Given the description of an element on the screen output the (x, y) to click on. 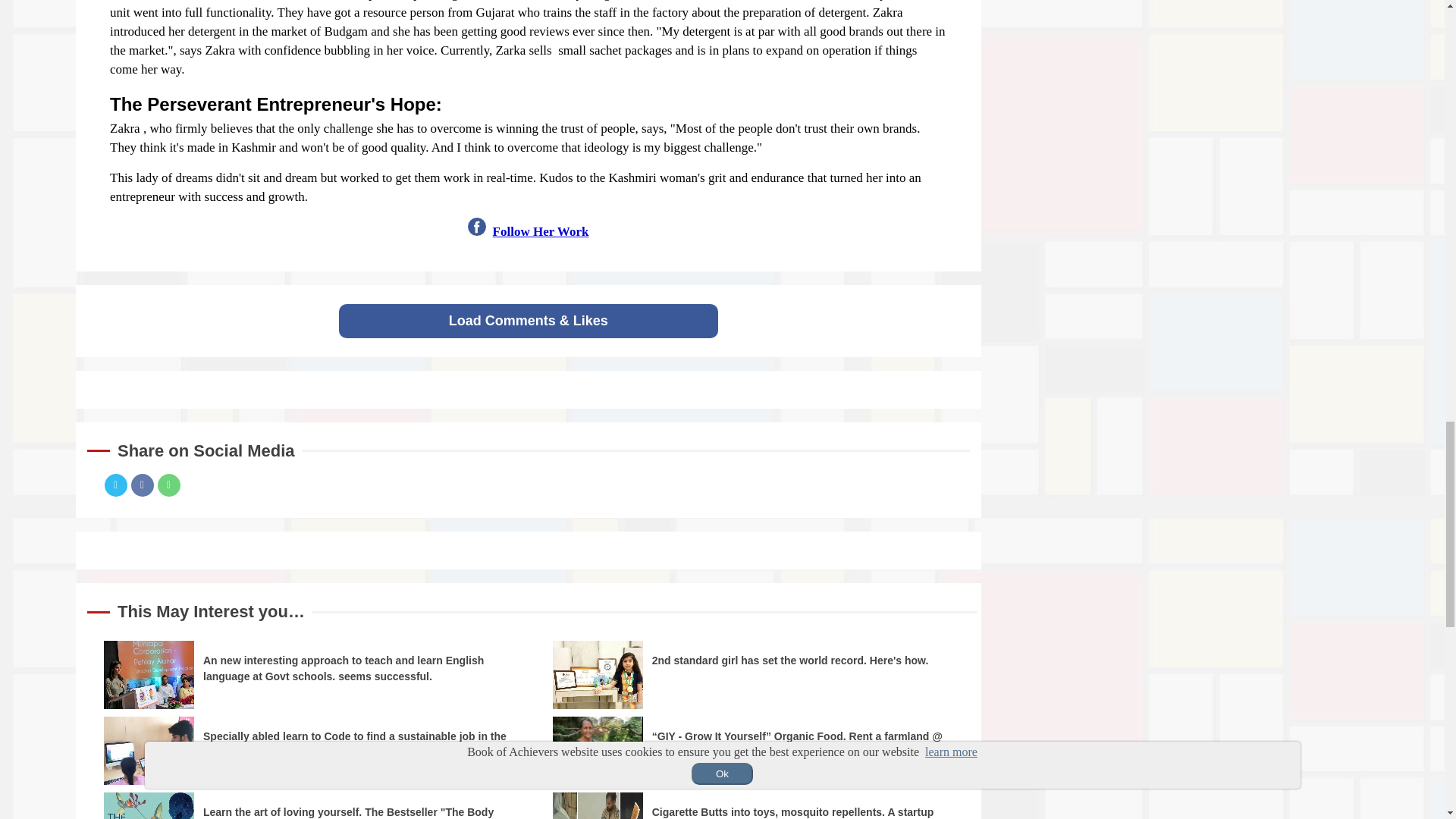
Share on Facebook (141, 485)
Share on Whatsapp (168, 485)
Share on Twitter (116, 485)
Follow Her Work (541, 231)
